Given the description of an element on the screen output the (x, y) to click on. 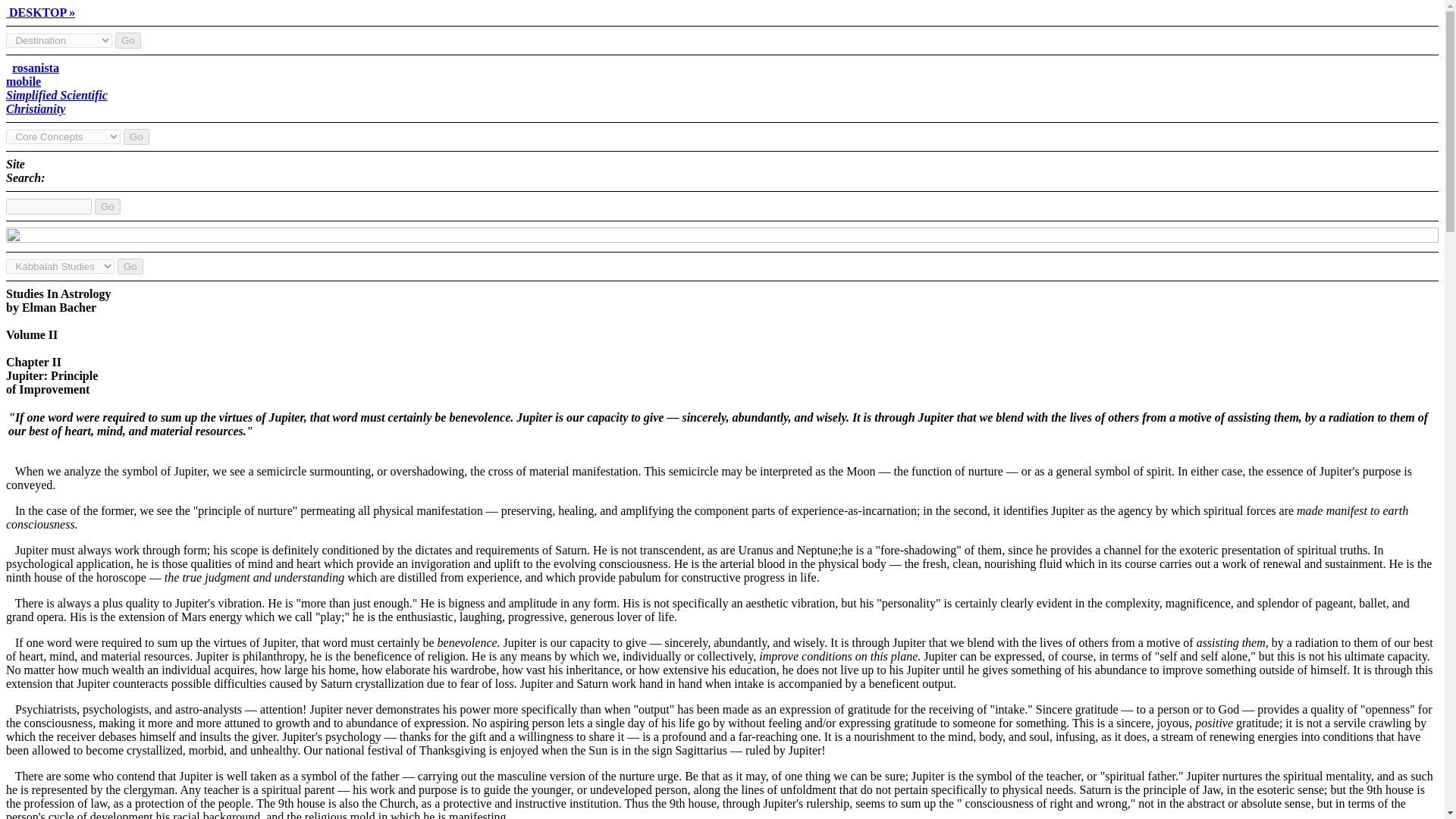
Go (129, 266)
Go (128, 40)
Go (56, 88)
Go (107, 206)
Go (107, 206)
